Given the description of an element on the screen output the (x, y) to click on. 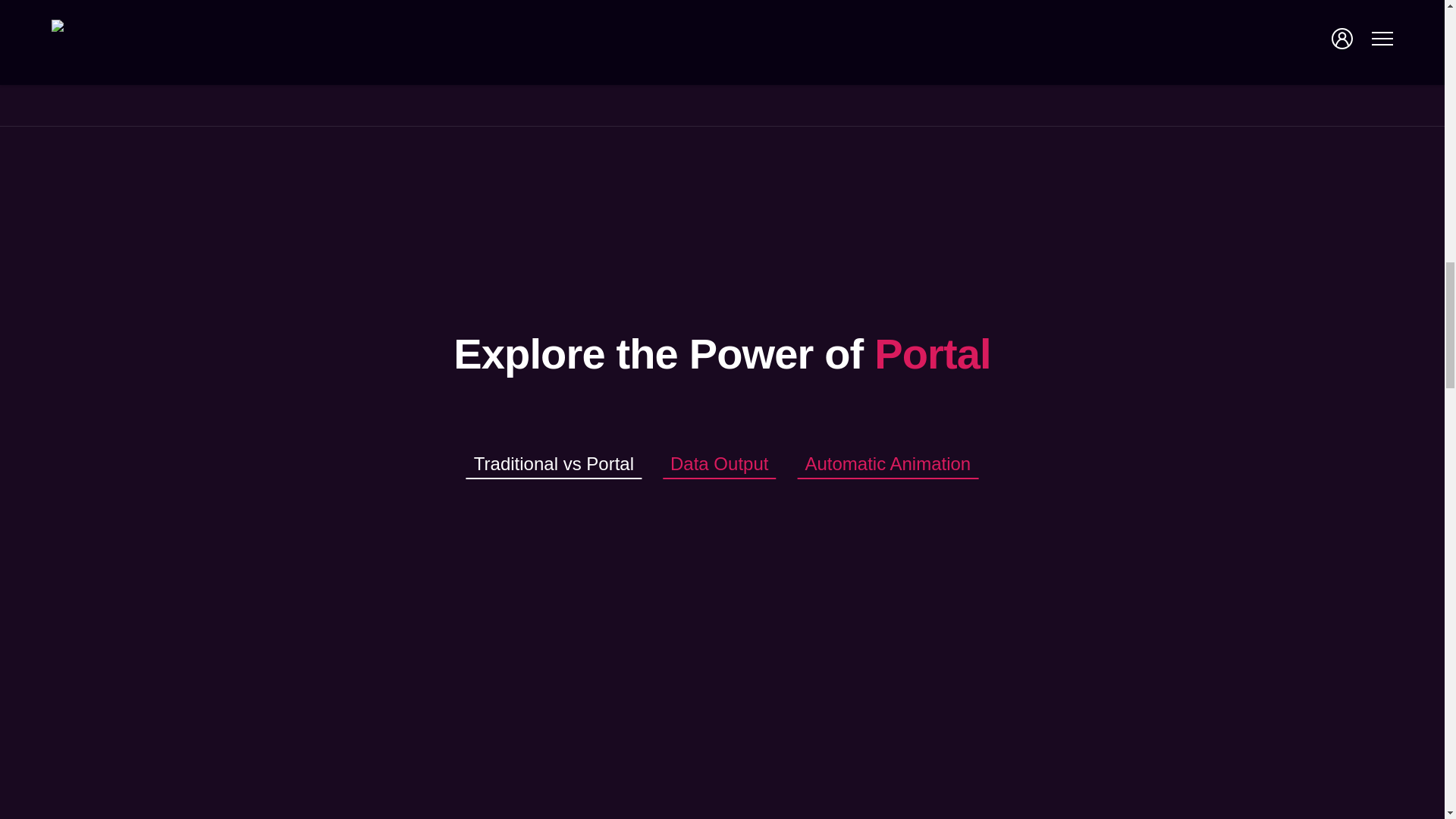
Traditional vs Portal (553, 463)
Data Output (718, 463)
Automatic Animation (888, 463)
